Given the description of an element on the screen output the (x, y) to click on. 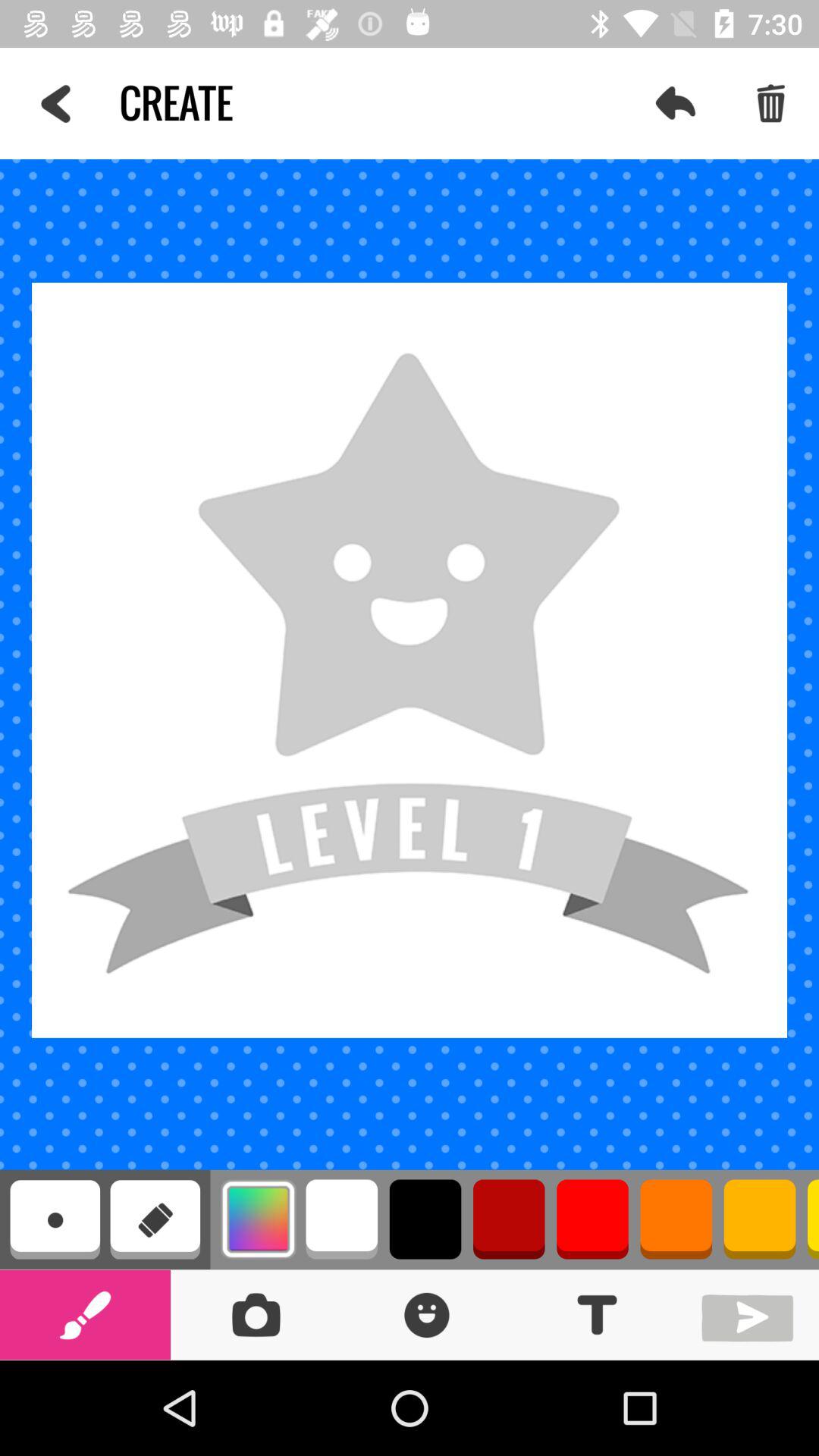
select paint brush (85, 1314)
